Given the description of an element on the screen output the (x, y) to click on. 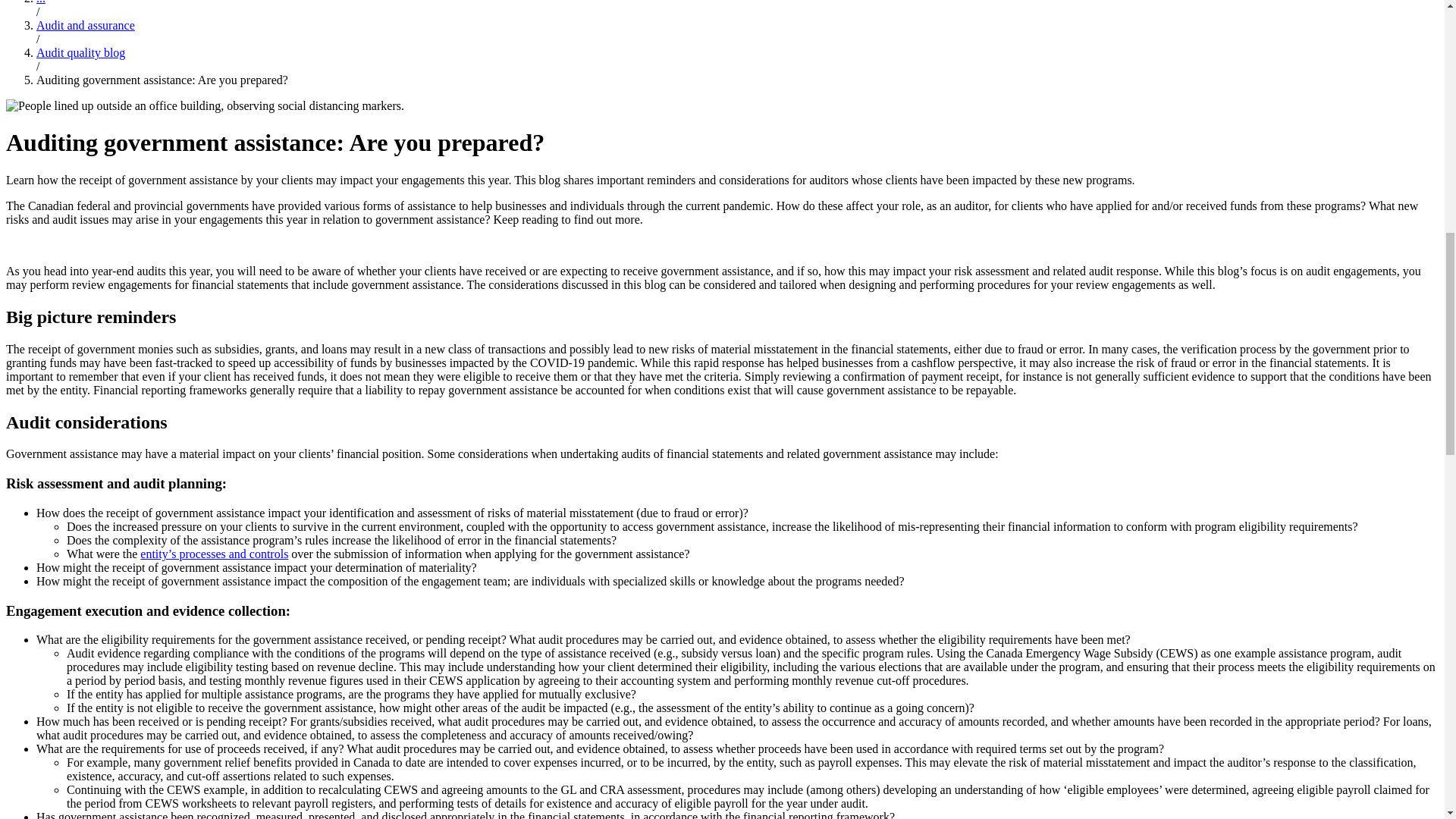
Audit quality blog (80, 51)
... (40, 2)
Audit and assurance (85, 24)
